Given the description of an element on the screen output the (x, y) to click on. 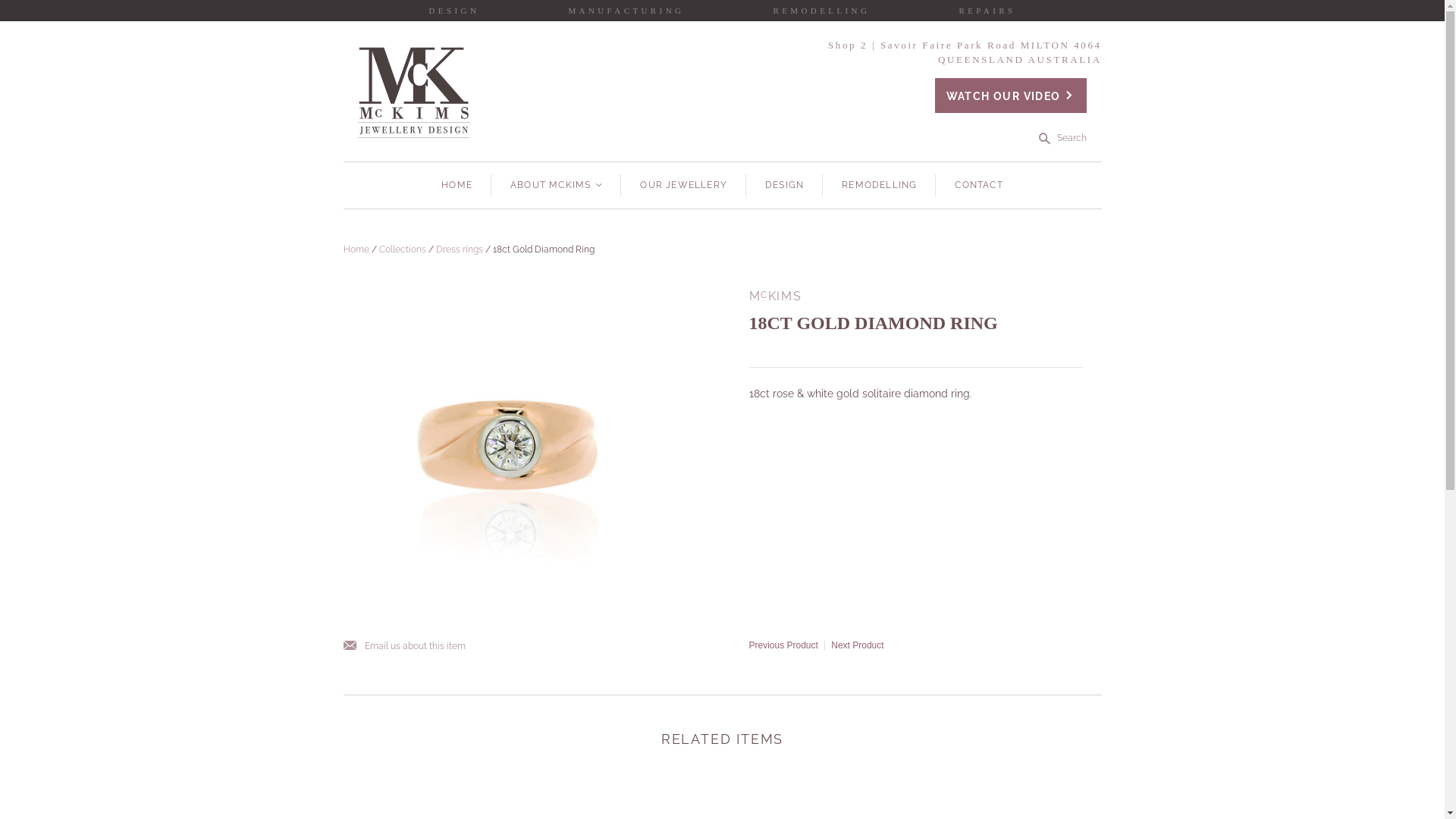
ABOUT MCKIMS
< Element type: text (556, 185)
Collections Element type: text (402, 249)
OUR JEWELLERY Element type: text (683, 185)
Dress rings Element type: text (458, 249)
j
Email us about this item Element type: text (403, 646)
REMODELLING Element type: text (878, 185)
Next Product Element type: text (857, 645)
Previous Product Element type: text (783, 645)
s
Search Element type: text (1062, 137)
CONTACT Element type: text (978, 185)
HOME Element type: text (456, 185)
DESIGN Element type: text (784, 185)
Home Element type: text (355, 249)
WATCH OUR VIDEO > Element type: text (1010, 95)
